Given the description of an element on the screen output the (x, y) to click on. 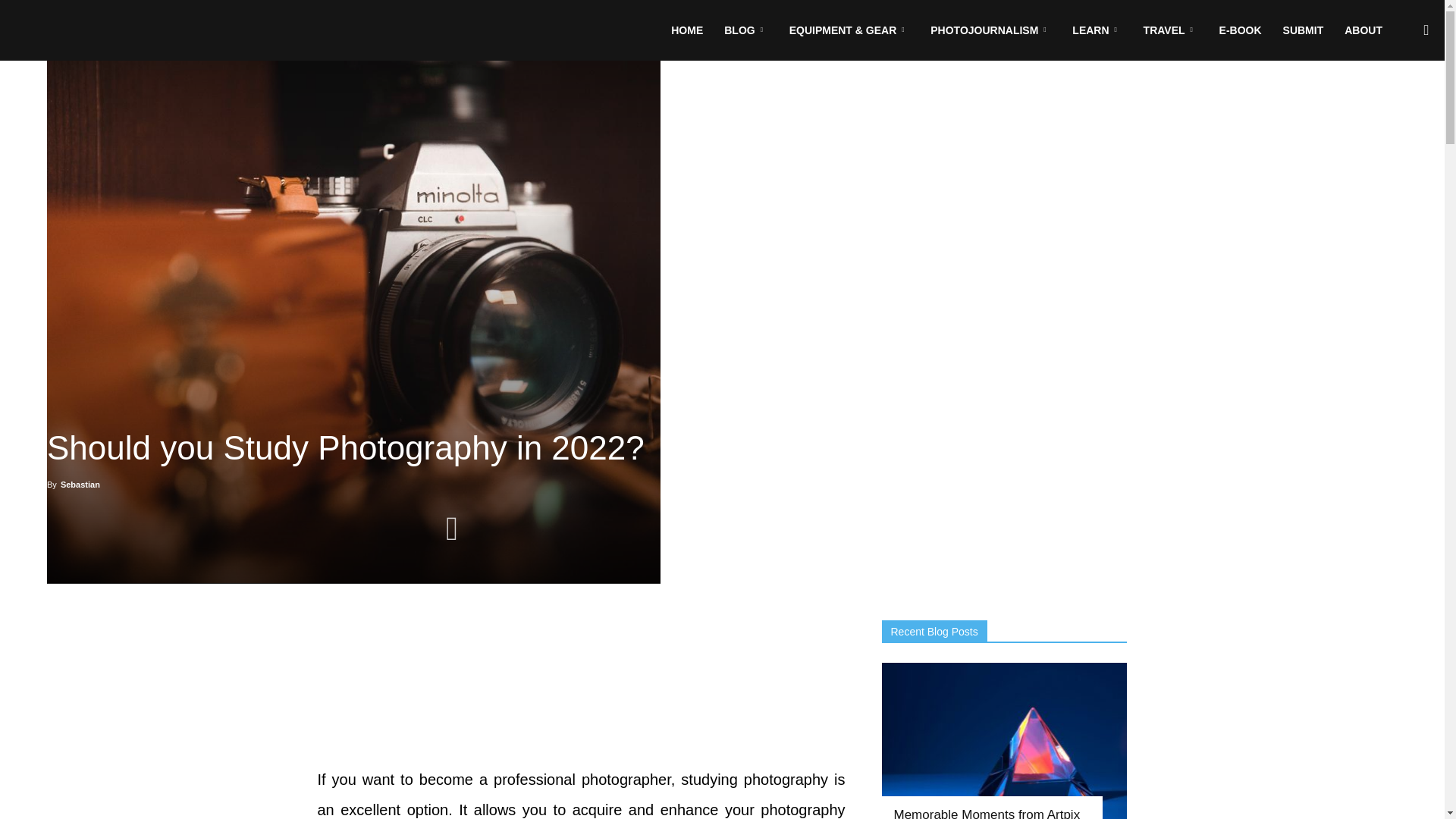
Search (1395, 102)
BLOG (745, 30)
